Given the description of an element on the screen output the (x, y) to click on. 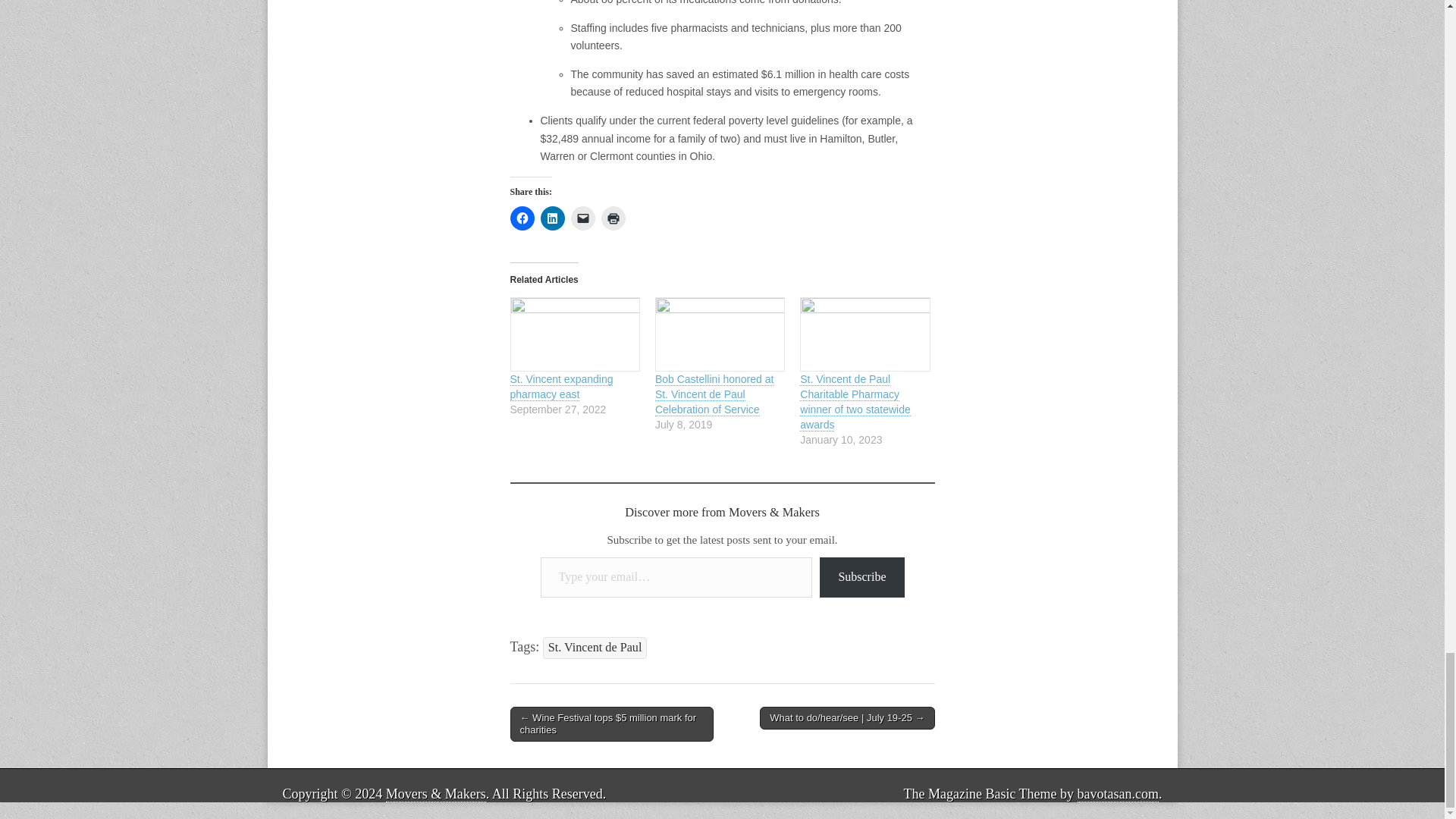
Click to share on Facebook (521, 218)
Click to share on LinkedIn (552, 218)
